Given the description of an element on the screen output the (x, y) to click on. 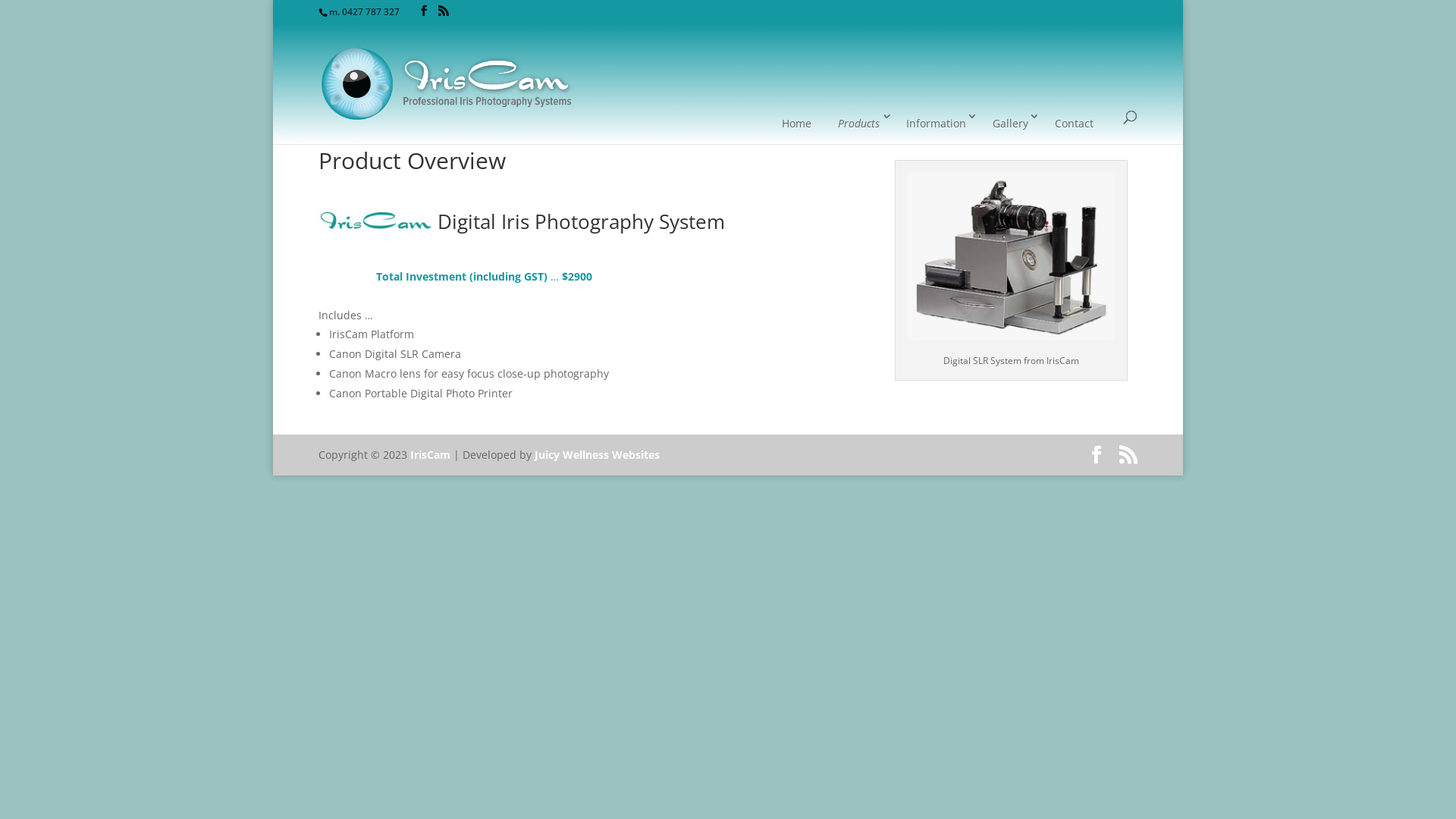
Gallery Element type: text (1010, 123)
Contact Element type: text (1073, 123)
Information Element type: text (935, 123)
Products Element type: text (858, 123)
Juicy Wellness Websites Element type: text (596, 454)
IrisCam Element type: text (430, 454)
Home Element type: text (796, 123)
